Given the description of an element on the screen output the (x, y) to click on. 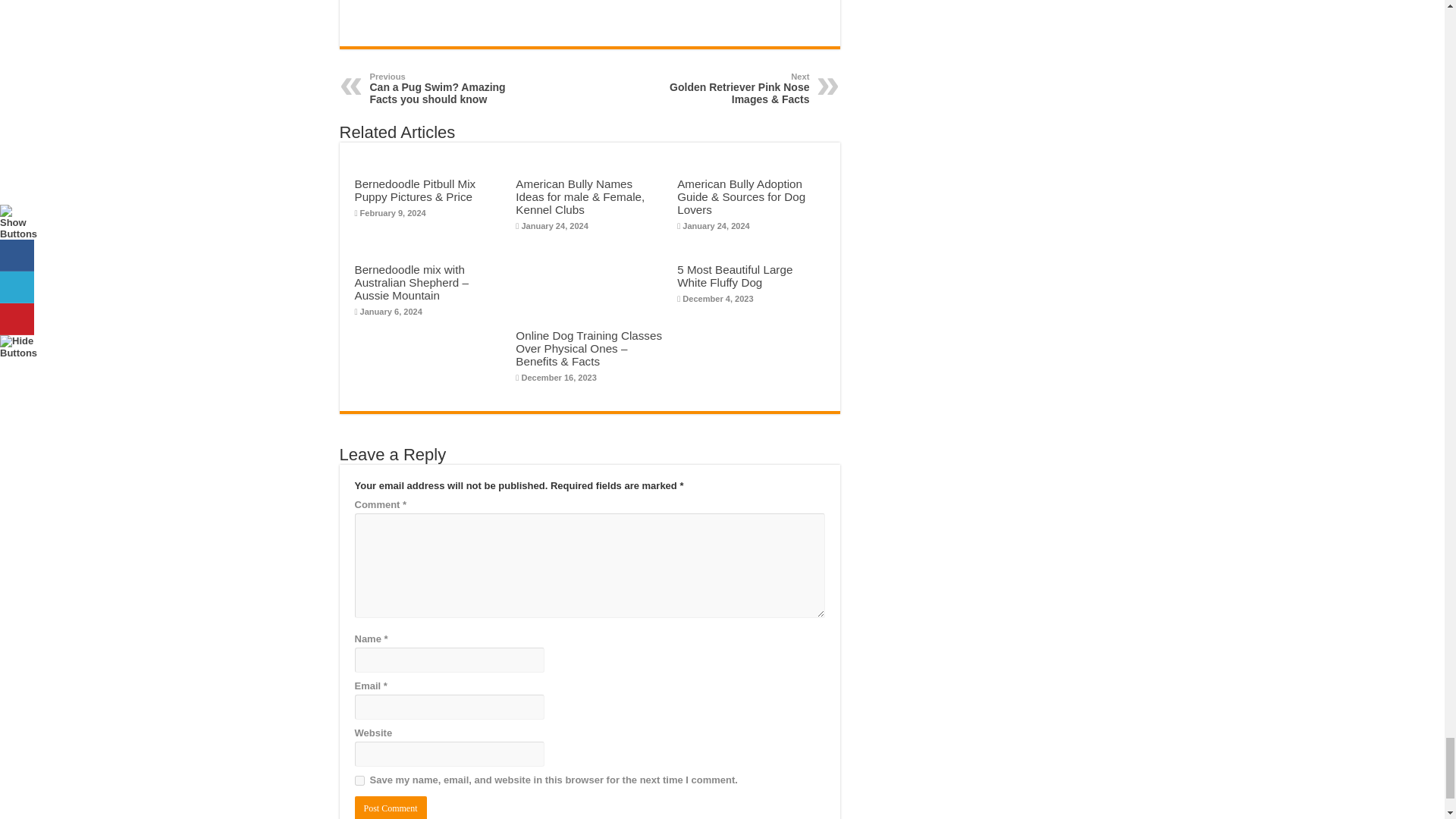
yes (360, 780)
Post Comment (447, 88)
